Given the description of an element on the screen output the (x, y) to click on. 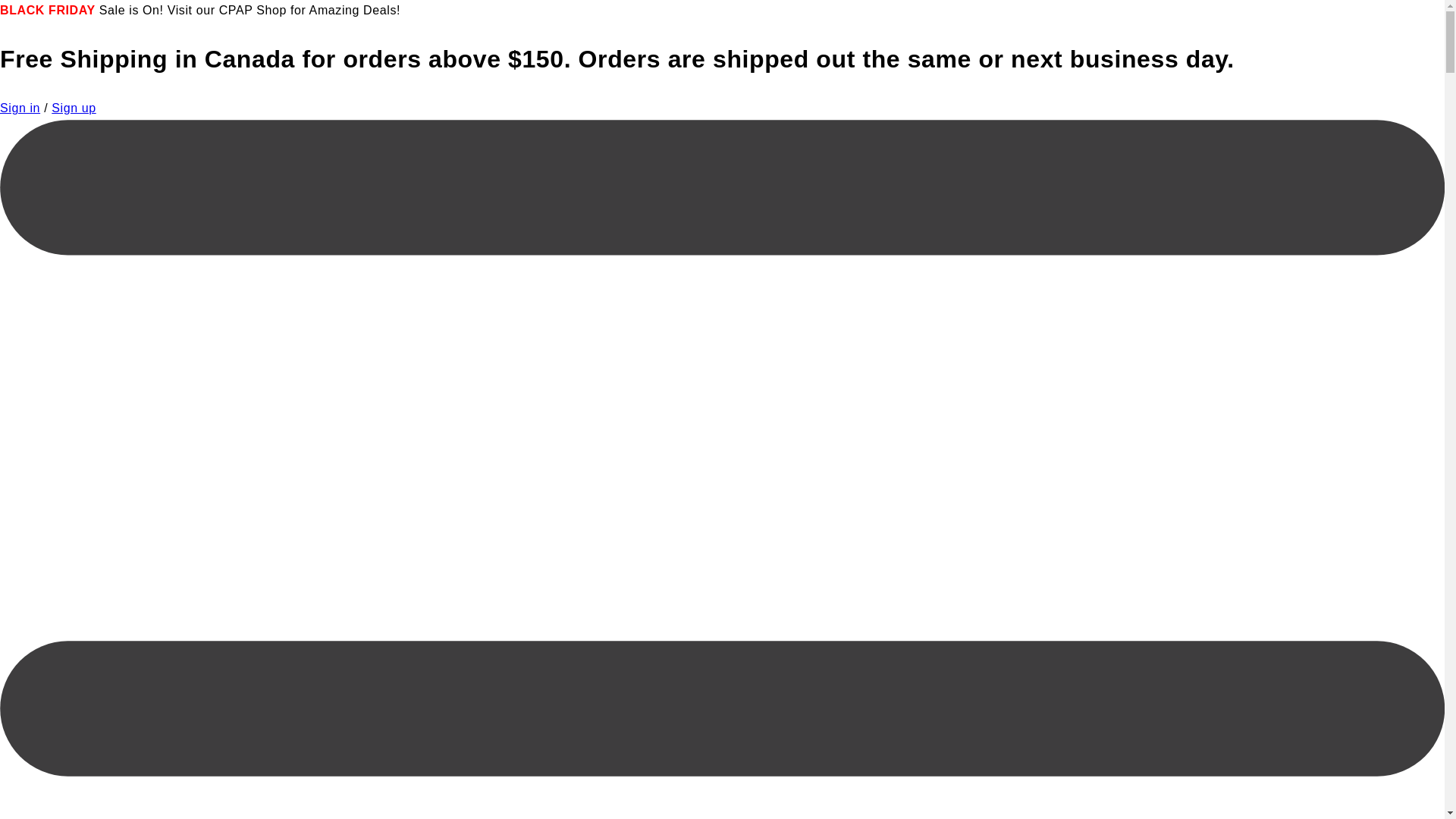
Sign in Element type: text (20, 107)
Sign up Element type: text (73, 107)
